Given the description of an element on the screen output the (x, y) to click on. 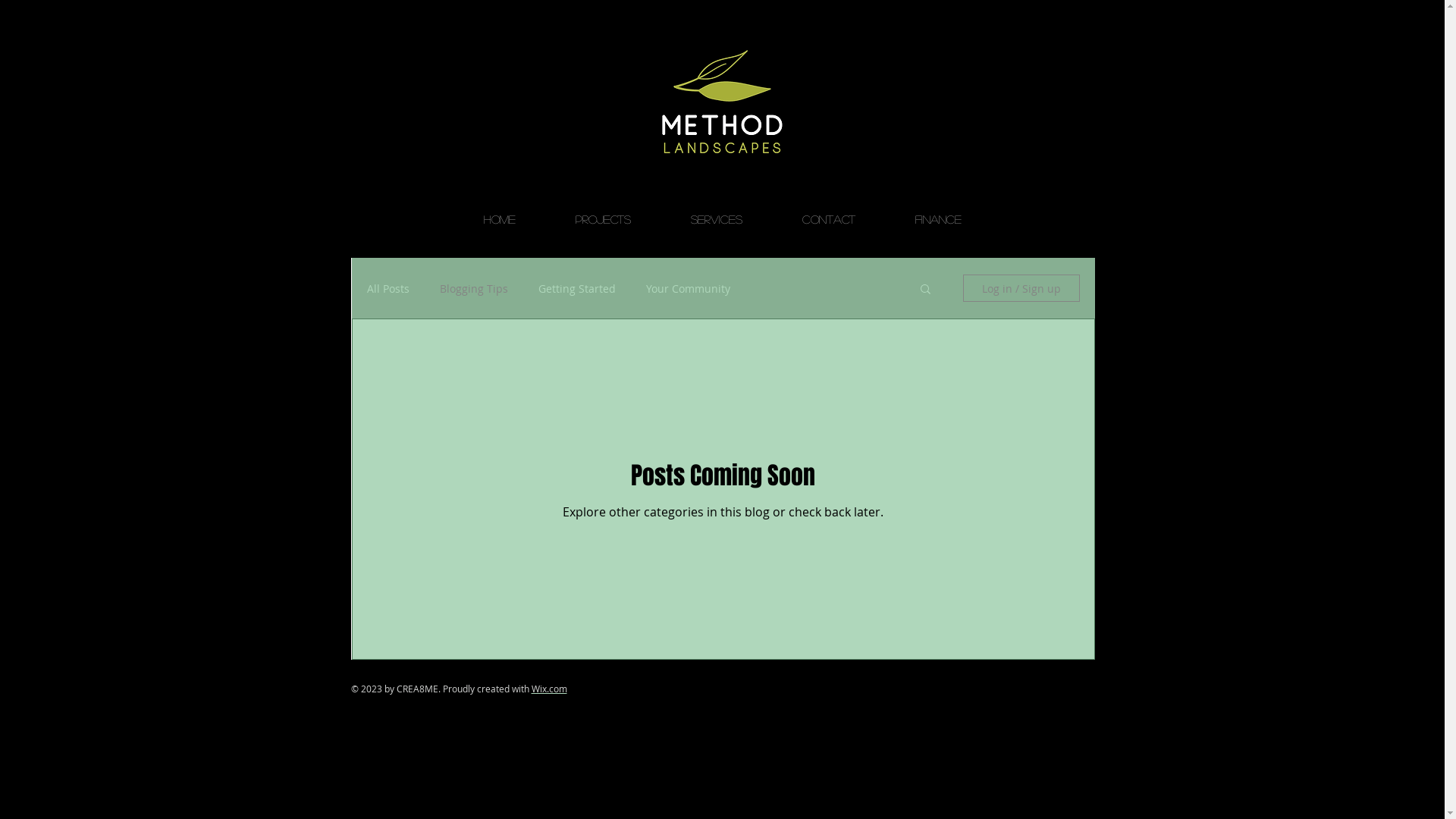
HOME Element type: text (498, 219)
All Posts Element type: text (388, 287)
Wix.com Element type: text (548, 688)
CONTACT Element type: text (827, 219)
SERVICES Element type: text (715, 219)
Your Community Element type: text (688, 287)
PROJECTS Element type: text (601, 219)
FINANCE Element type: text (937, 219)
Blogging Tips Element type: text (473, 287)
Log in / Sign up Element type: text (1021, 287)
Getting Started Element type: text (576, 287)
